Given the description of an element on the screen output the (x, y) to click on. 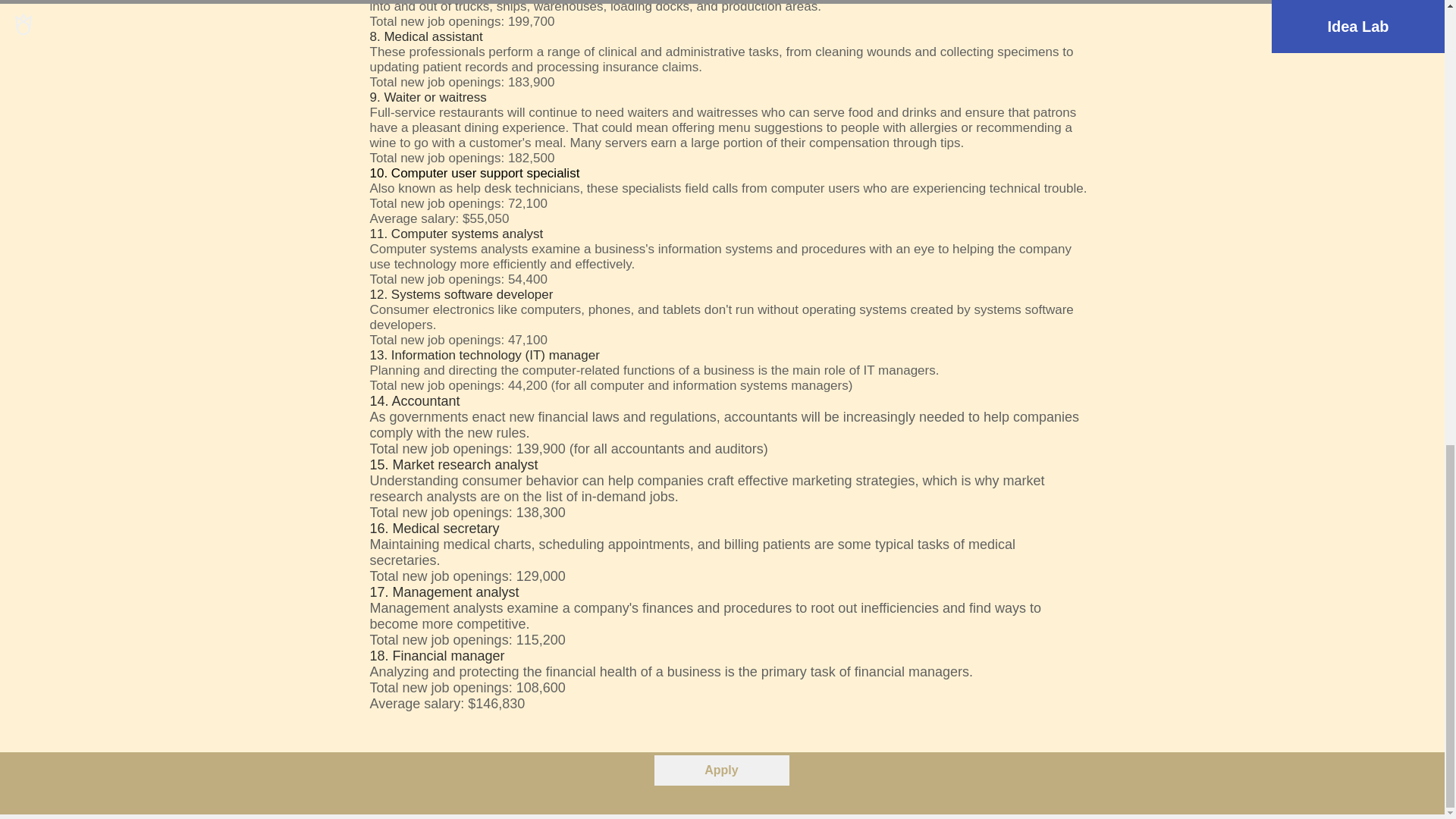
Medical secretary (446, 528)
Computer user support specialist (485, 173)
14. Accountant (414, 400)
Medical assistant (432, 36)
software developer (498, 294)
Apply (721, 770)
